Given the description of an element on the screen output the (x, y) to click on. 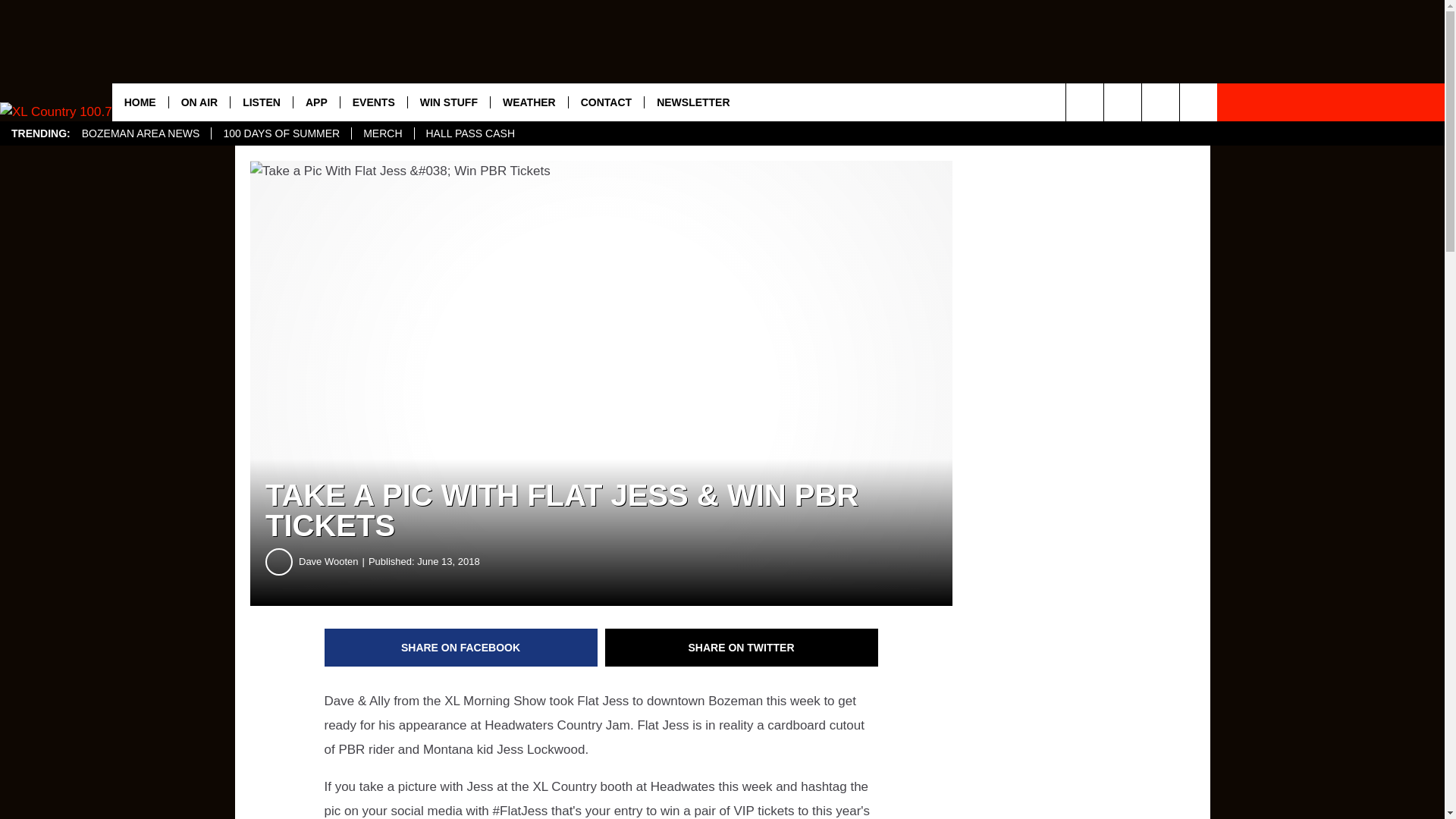
EVENTS (373, 102)
HOME (140, 102)
NEWSLETTER (692, 102)
Share on Facebook (460, 647)
100 DAYS OF SUMMER (280, 133)
ON AIR (199, 102)
CONTACT (605, 102)
WEATHER (528, 102)
Share on Twitter (741, 647)
APP (315, 102)
